Given the description of an element on the screen output the (x, y) to click on. 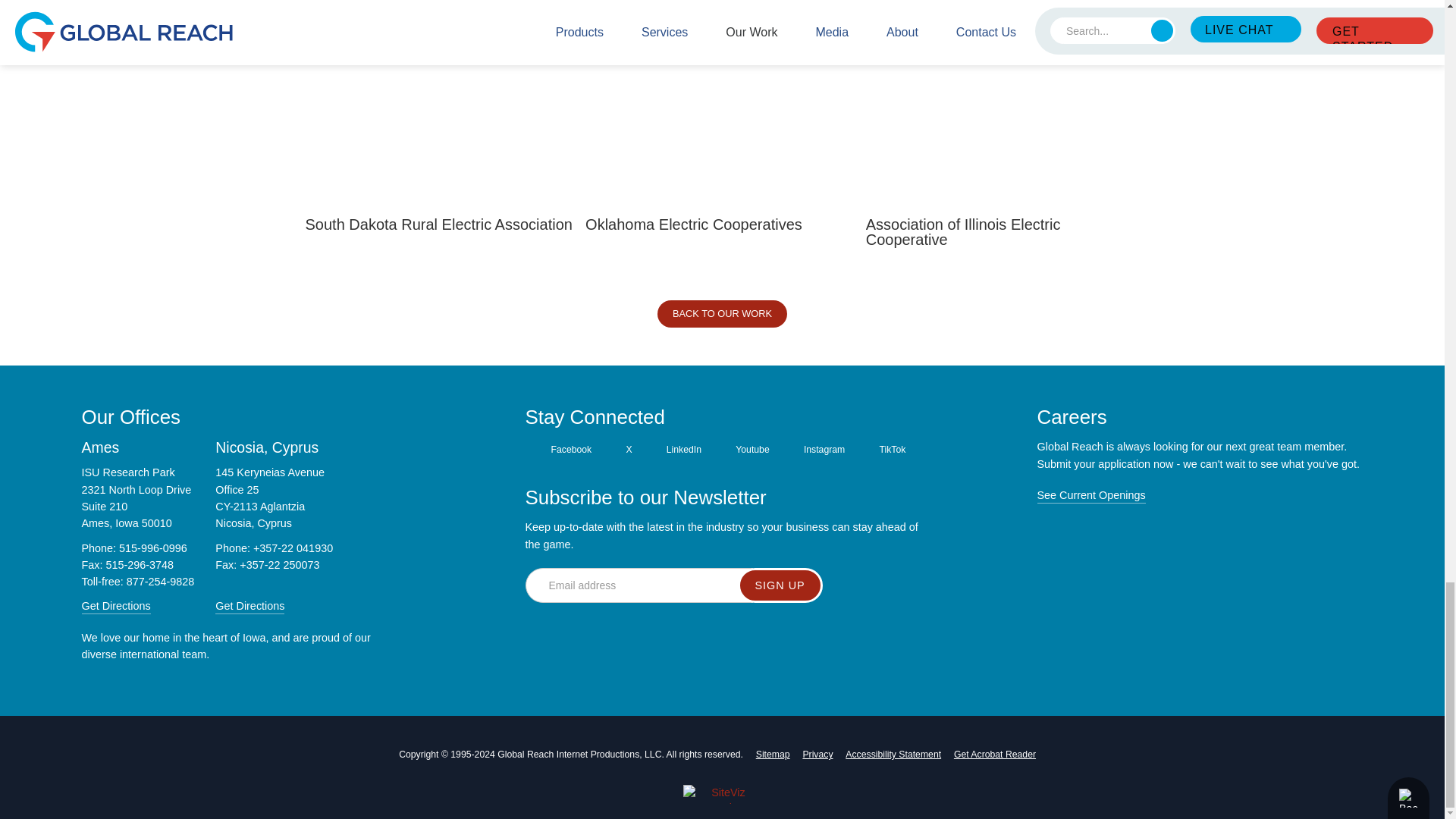
Sign Up (779, 585)
